Given the description of an element on the screen output the (x, y) to click on. 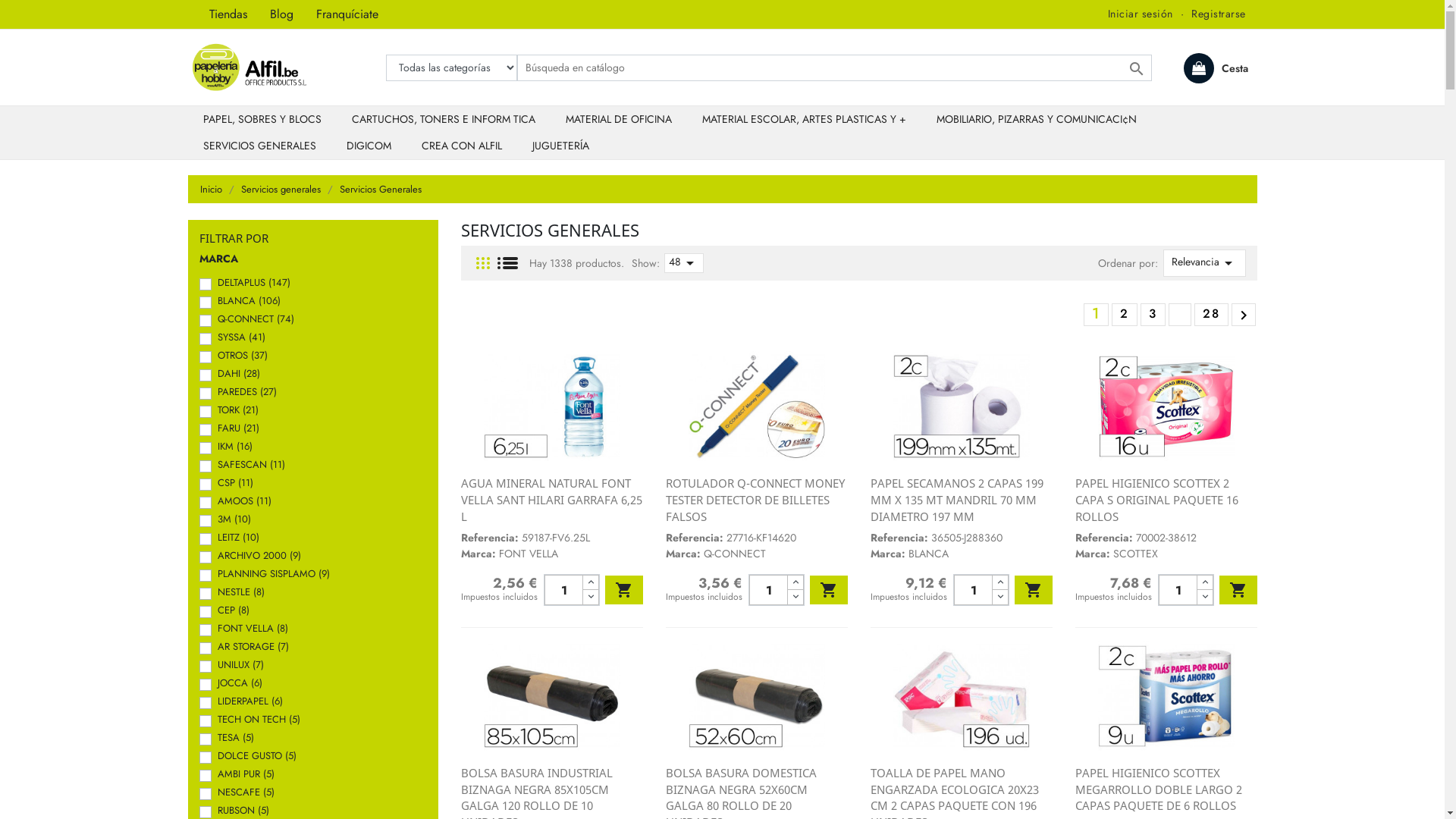
PAPEL HIGIENICO SCOTTEX 2 CAPA S ORIGINAL PAQUETE 16 ROLLOS Element type: text (1156, 499)
28 Element type: text (1211, 313)
Inicio Element type: text (212, 189)
3 Element type: text (1152, 313)
PAPEL, SOBRES Y BLOCS Element type: text (262, 119)
List Element type: hover (507, 263)
DIGICOM Element type: text (367, 145)
Grid Element type: hover (482, 263)
Cesta Element type: text (1215, 67)
MATERIAL ESCOLAR, ARTES PLASTICAS Y + Element type: text (804, 119)
AGUA MINERAL NATURAL FONT VELLA SANT HILARI GARRAFA 6,25 L Element type: text (551, 499)
2 Element type: text (1123, 313)
CREA CON ALFIL Element type: text (461, 145)
SERVICIOS GENERALES Element type: text (259, 145)
MATERIAL DE OFICINA Element type: text (618, 119)
1 Element type: text (1095, 313)
Servicios generales Element type: text (282, 189)
Servicios Generales Element type: text (380, 189)
CARTUCHOS, TONERS E INFORM TICA Element type: text (443, 119)
Tiendas Element type: text (227, 14)
Blog Element type: text (280, 14)
ROTULADOR Q-CONNECT MONEY TESTER DETECTOR DE BILLETES FALSOS Element type: text (754, 499)
